Given the description of an element on the screen output the (x, y) to click on. 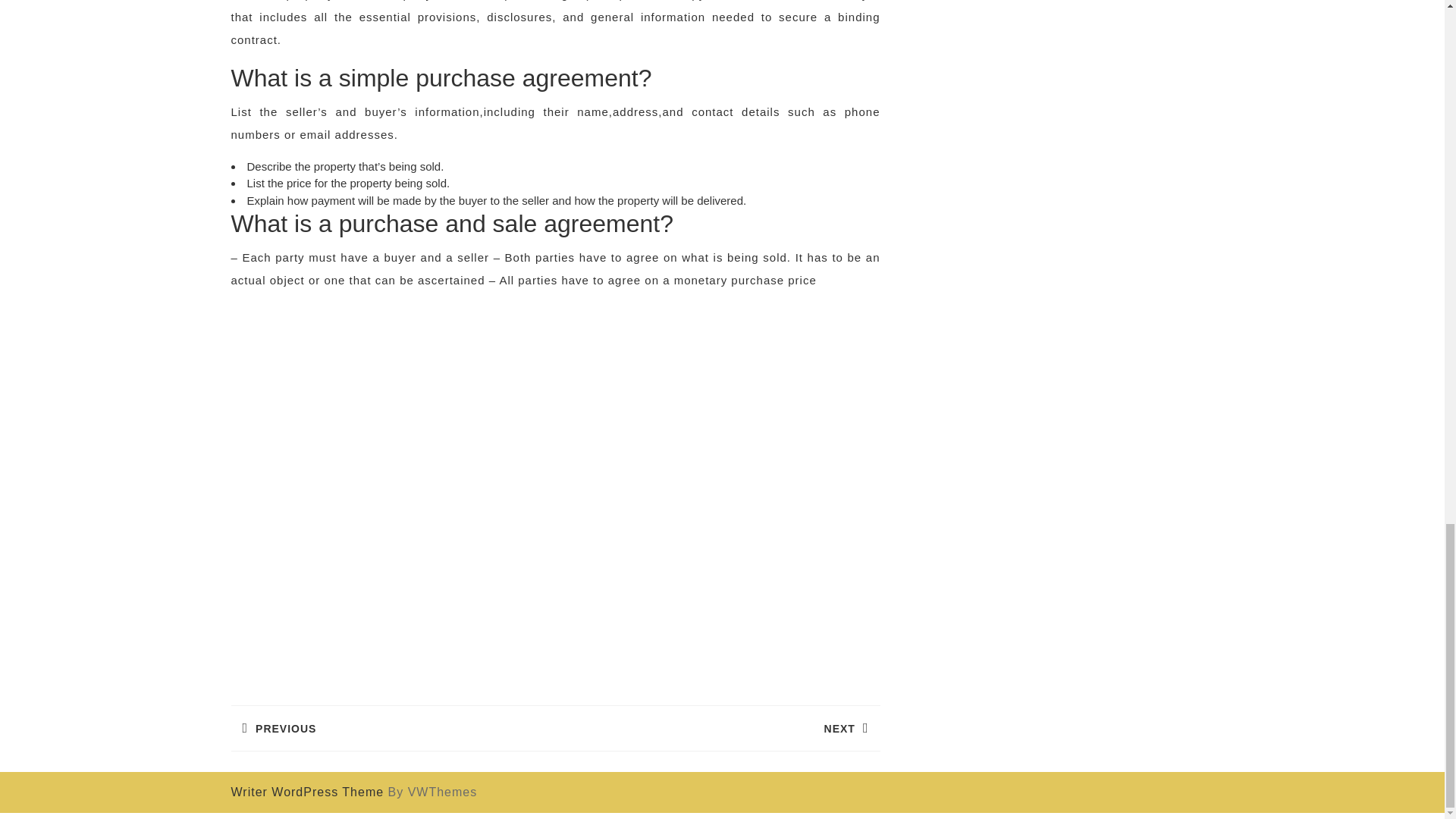
Writer WordPress Theme (307, 791)
